Given the description of an element on the screen output the (x, y) to click on. 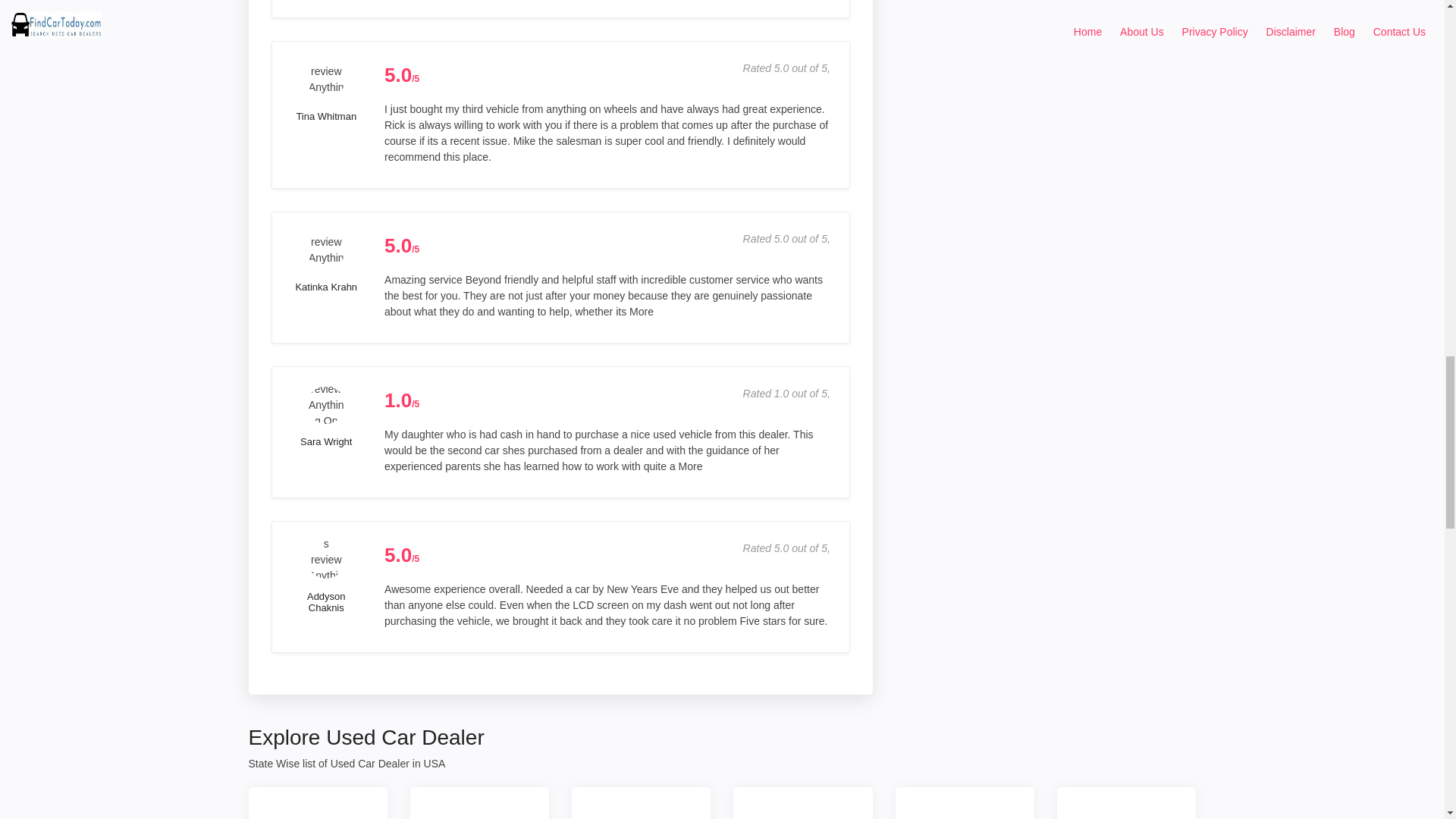
Used Car Dealer Arkansas (641, 803)
Used Car Dealer Alaska (317, 803)
Used Car Dealer Alabama (479, 803)
